Given the description of an element on the screen output the (x, y) to click on. 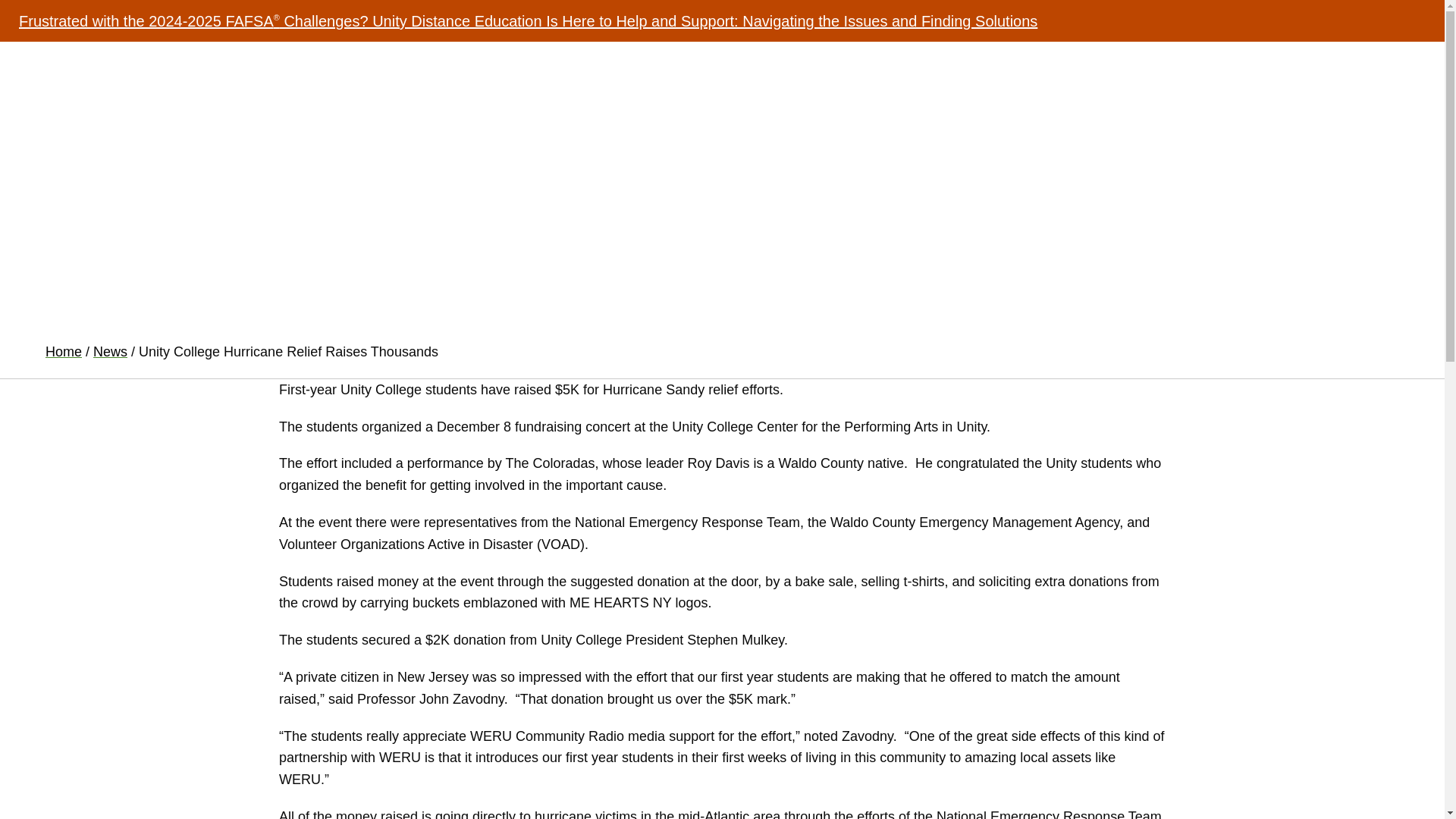
Go to News. (110, 351)
Go to Unity Environmental University. (63, 351)
Open Menu (1390, 64)
